Given the description of an element on the screen output the (x, y) to click on. 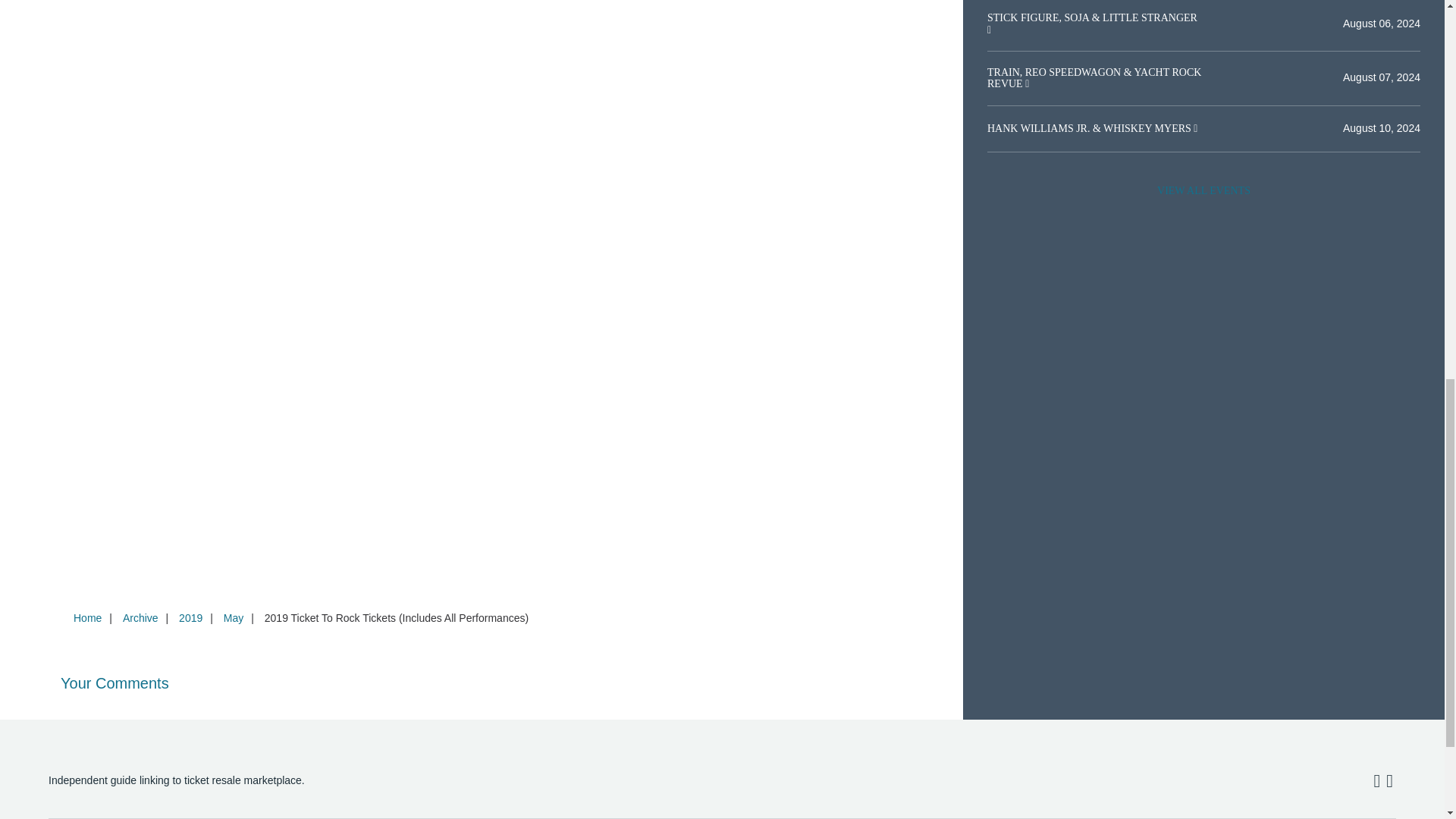
2019 (190, 617)
VIEW ALL EVENTS (1203, 190)
Archive (140, 617)
May (232, 617)
Home (87, 617)
